Given the description of an element on the screen output the (x, y) to click on. 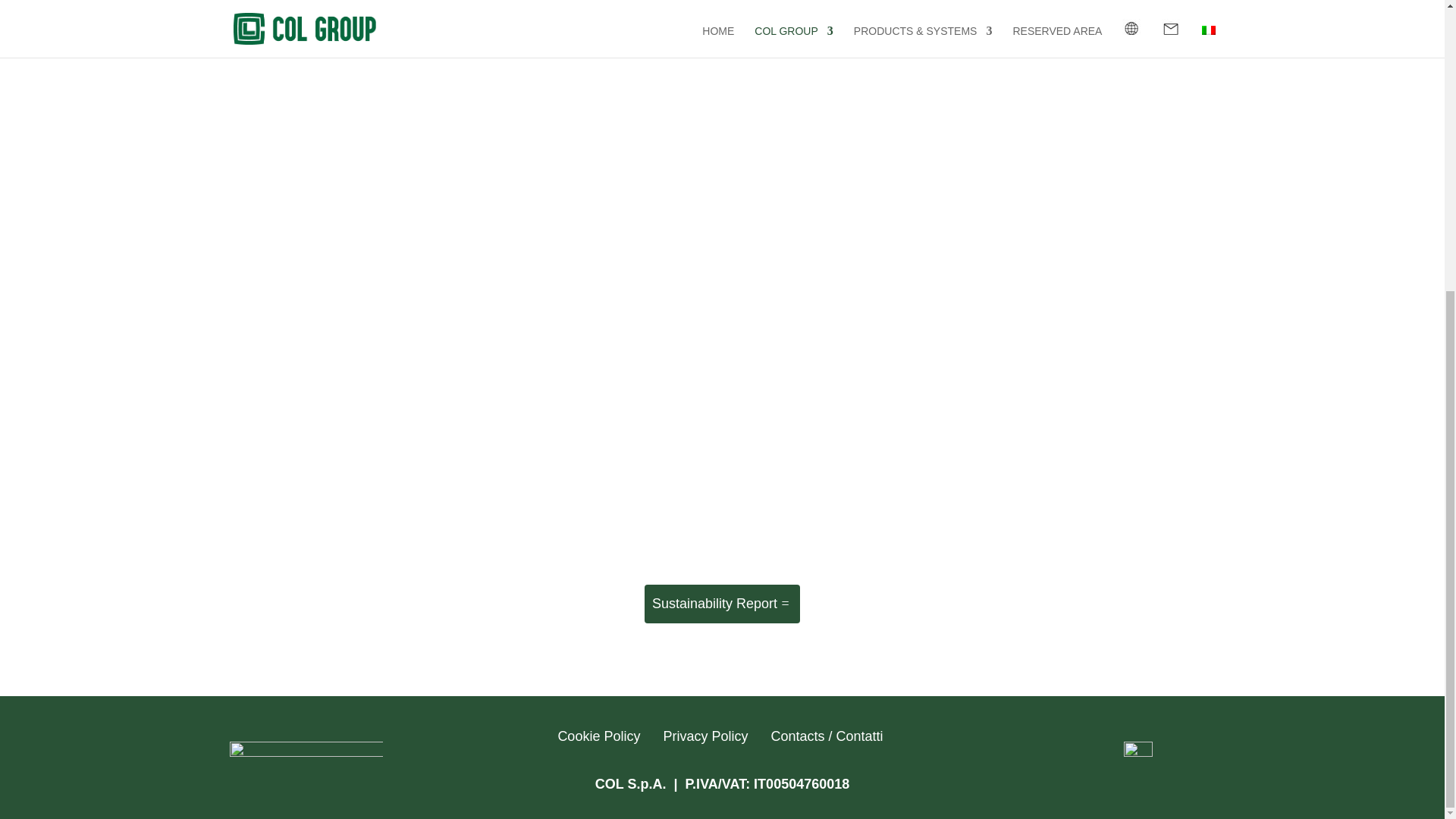
Cookie Policy (598, 735)
Sustainability Report (722, 603)
Linkedin-Icon (1138, 756)
Contatti (859, 735)
Privacy Policy (705, 735)
Logo COL GROUP white (305, 758)
Contacts (797, 735)
